Given the description of an element on the screen output the (x, y) to click on. 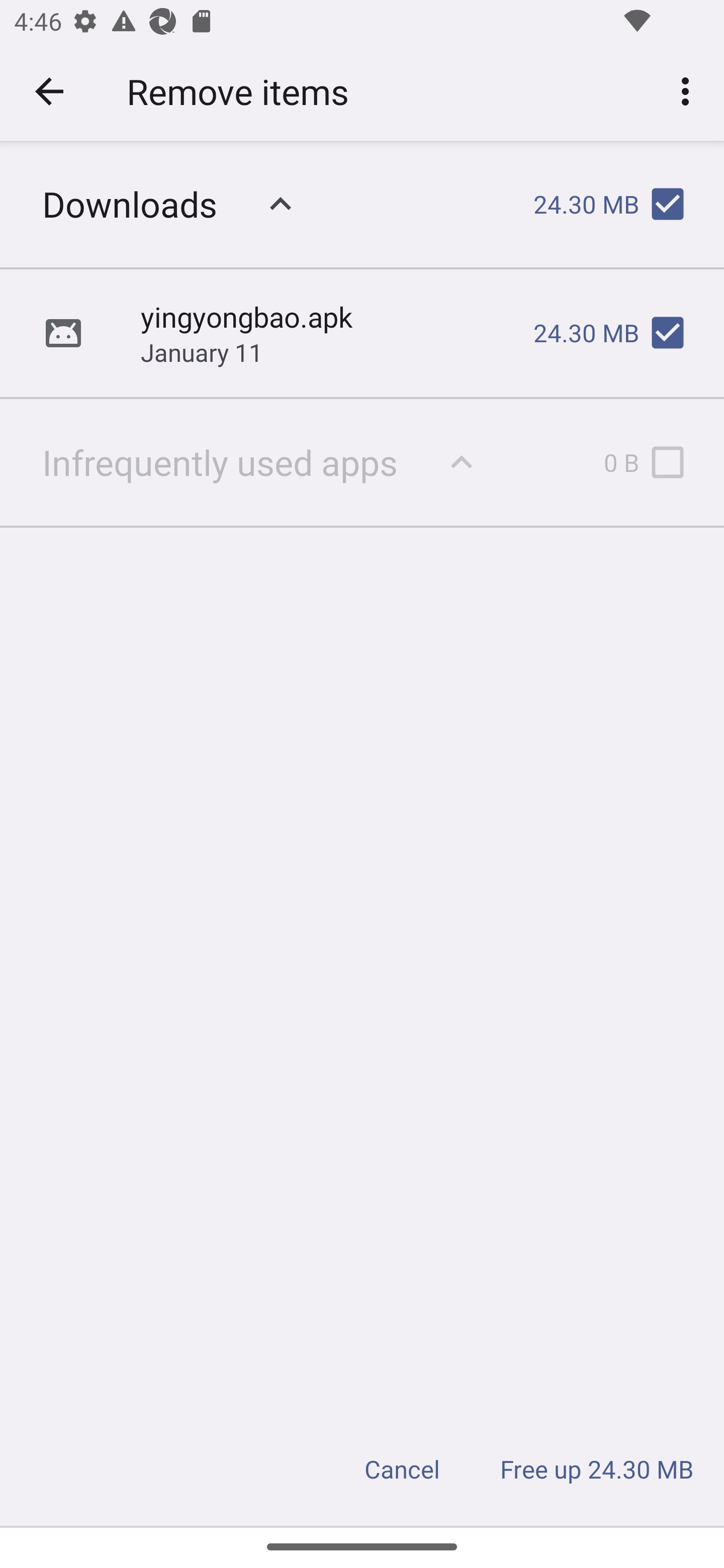
Navigate up (49, 91)
More options (688, 90)
Downloads 24.30 MB (362, 204)
yingyongbao.apk January 11 24.30 MB (362, 332)
Infrequently used apps 0 B (362, 461)
Cancel (402, 1469)
Free up 24.30 MB (597, 1469)
